Given the description of an element on the screen output the (x, y) to click on. 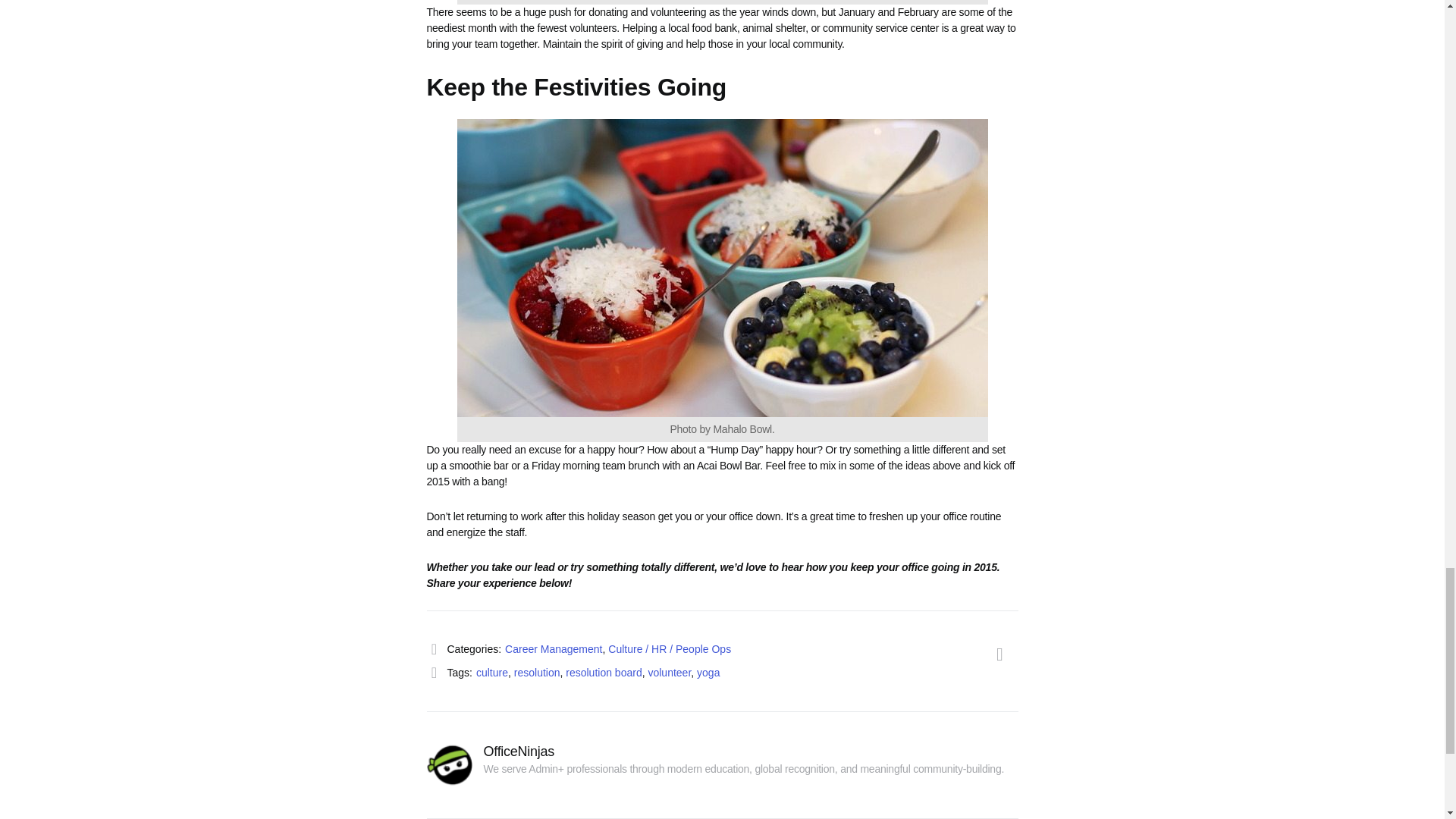
Career Management (553, 648)
resolution board (604, 672)
volunteer (668, 672)
resolution (536, 672)
culture (492, 672)
yoga (708, 672)
